Given the description of an element on the screen output the (x, y) to click on. 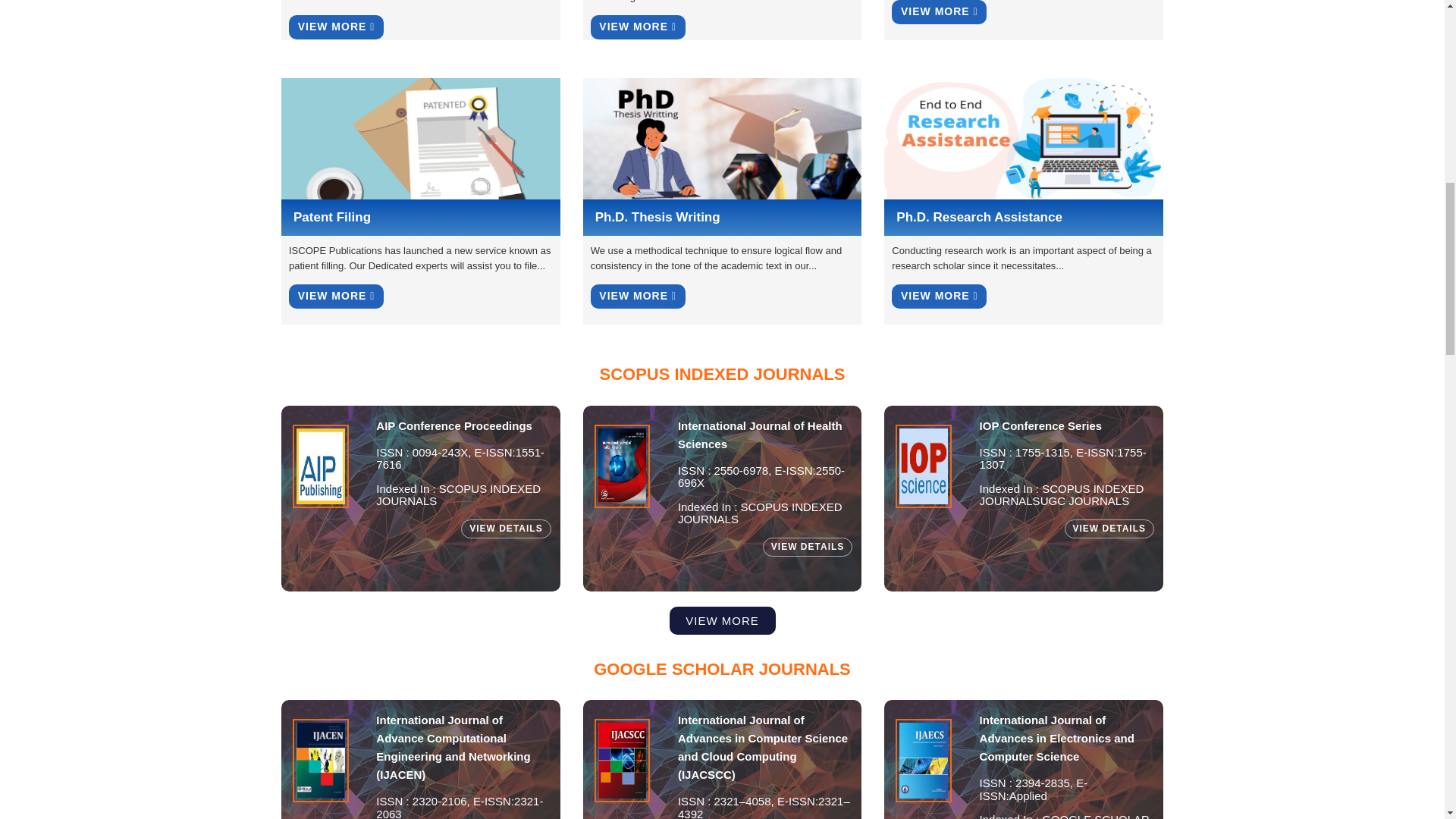
VIEW DETAILS (806, 546)
VIEW MORE (638, 296)
VIEW MORE (336, 27)
VIEW MORE (336, 296)
VIEW MORE (939, 12)
VIEW MORE (939, 296)
VIEW DETAILS (505, 528)
VIEW MORE (638, 27)
VIEW DETAILS (1109, 528)
